Given the description of an element on the screen output the (x, y) to click on. 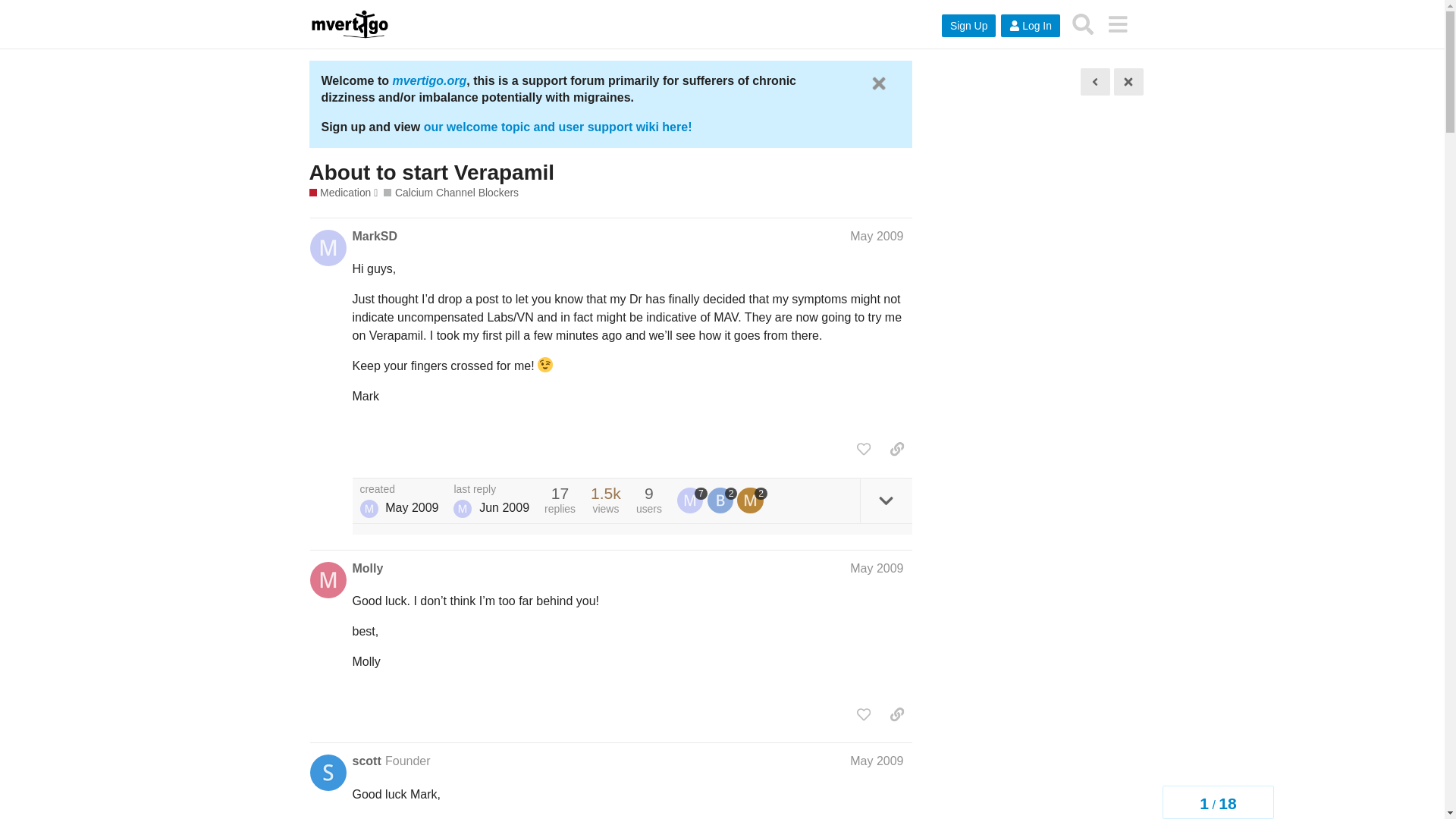
our welcome topic and user support wiki here! (558, 126)
Search (1082, 23)
topic progress (1217, 802)
last reply (490, 489)
Molly (367, 568)
:wink: (545, 364)
MarkSD (374, 236)
Calcium Channel Blockers (451, 192)
Sign Up (968, 25)
copy a link to this post to clipboard (896, 448)
7 (692, 500)
menu (1117, 23)
scott (366, 760)
May 2009 (876, 760)
2 (751, 500)
